Given the description of an element on the screen output the (x, y) to click on. 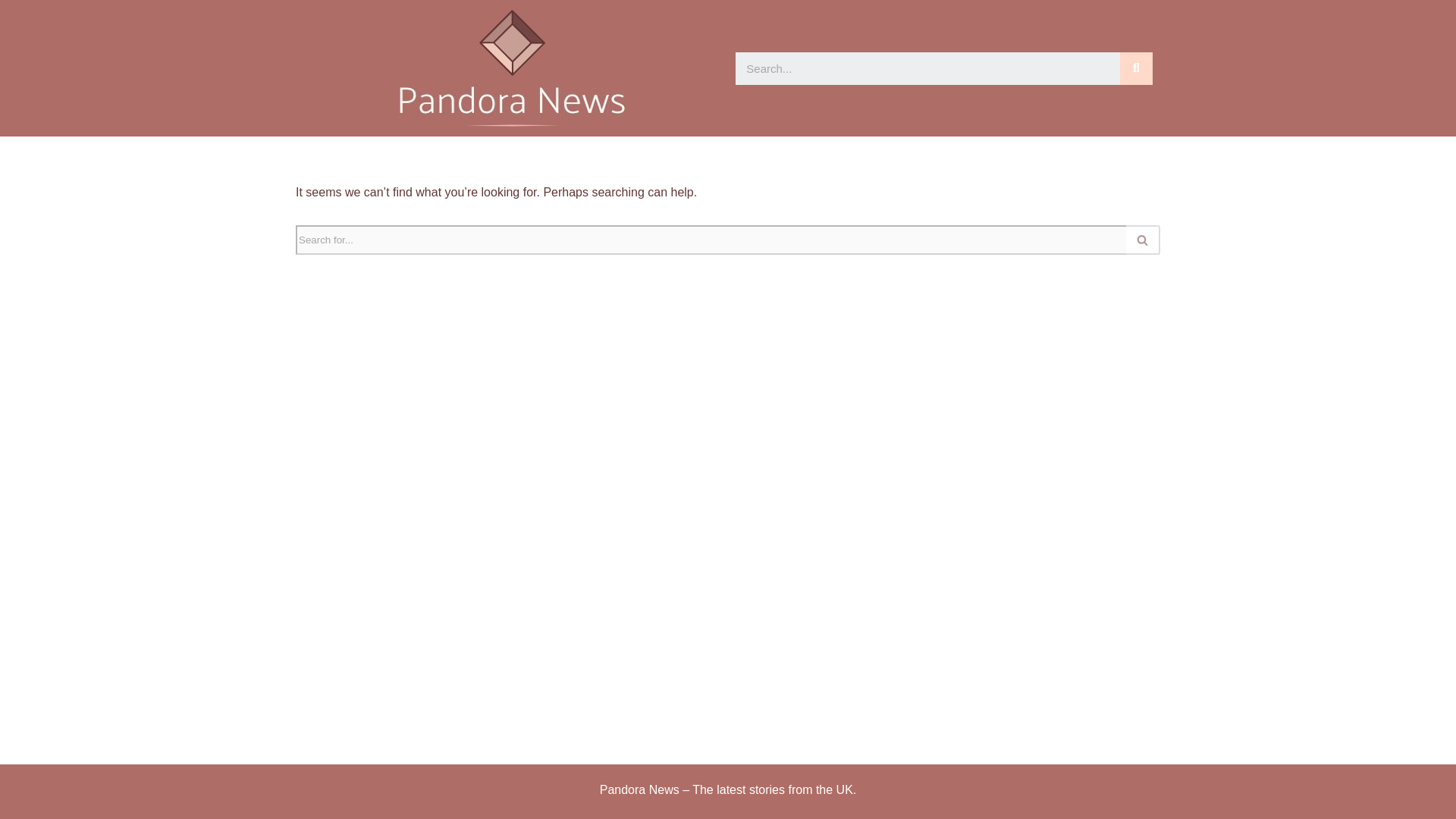
Search (927, 67)
Skip to content (11, 31)
Search (1136, 67)
